Given the description of an element on the screen output the (x, y) to click on. 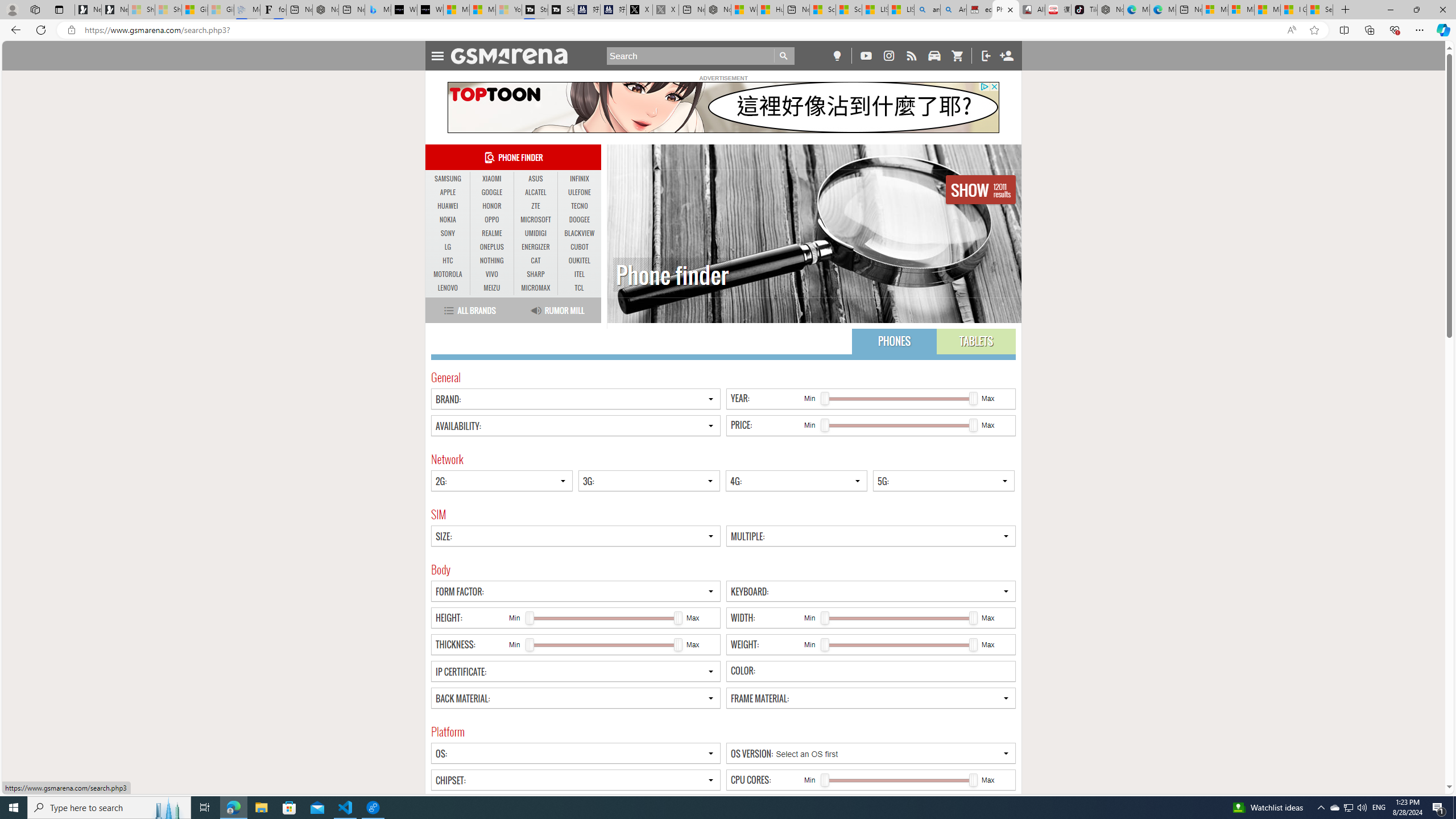
Class: l-col-full framed p10 pf-input js-bound (871, 671)
HONOR (491, 206)
VIVO (491, 273)
ONEPLUS (491, 246)
CUBOT (579, 246)
GOOGLE (491, 192)
NOTHING (491, 260)
PHONES (893, 341)
